Given the description of an element on the screen output the (x, y) to click on. 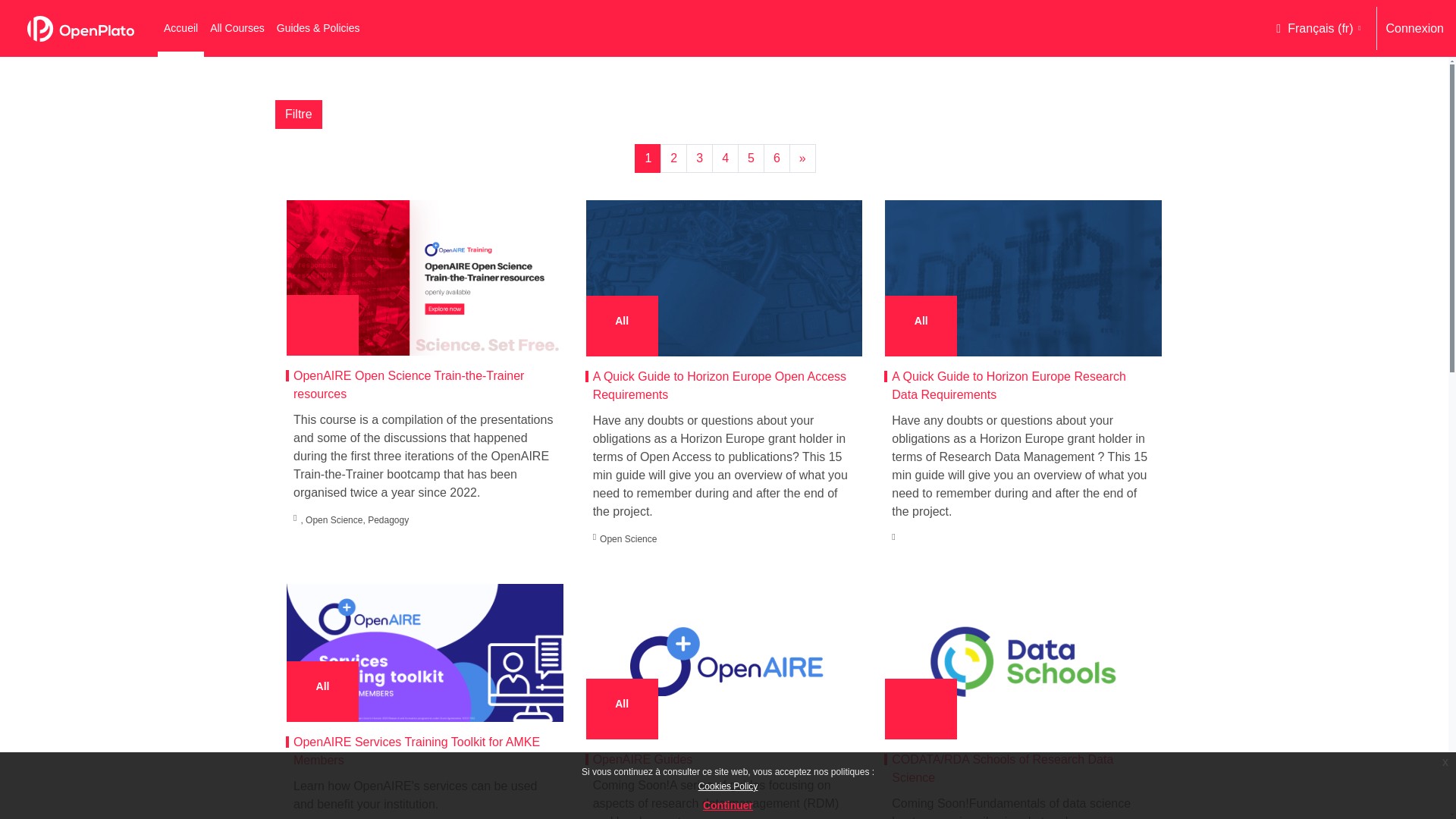
Filtre (298, 113)
All Courses (236, 28)
Connexion (1415, 28)
